Given the description of an element on the screen output the (x, y) to click on. 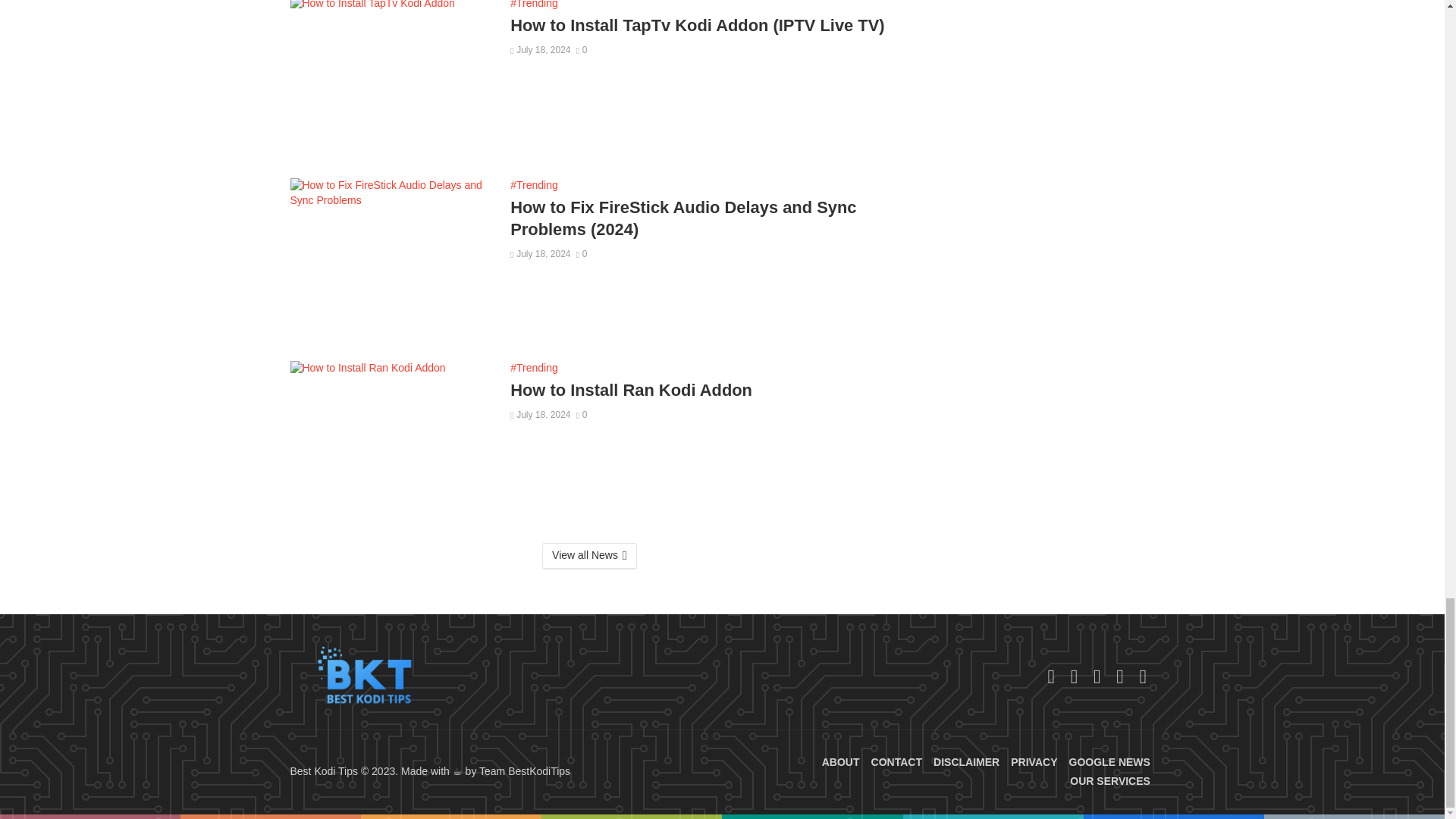
July 18, 2024 at 1:43 pm (540, 50)
0 Comments (582, 50)
